Given the description of an element on the screen output the (x, y) to click on. 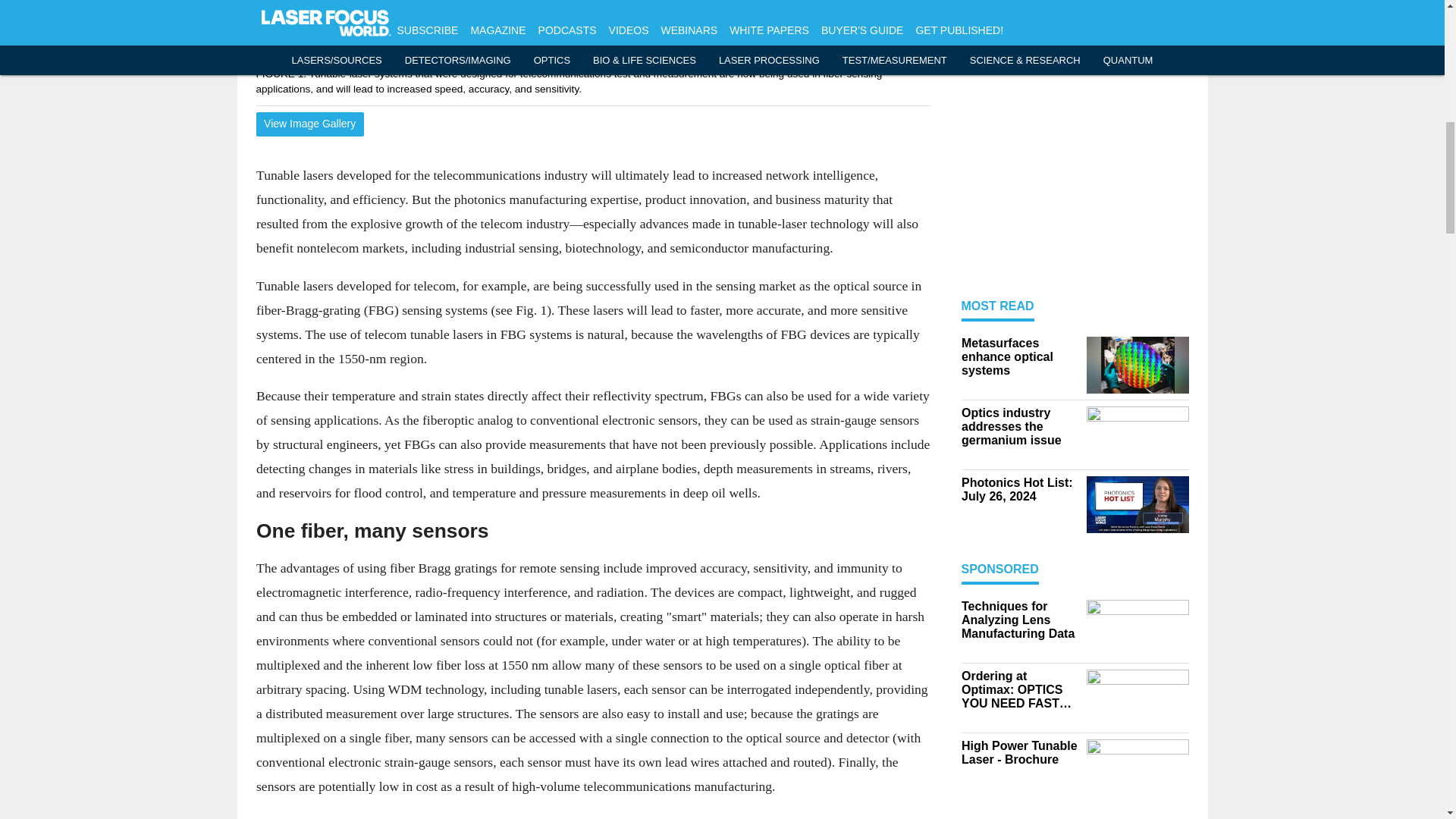
View Image Gallery (310, 124)
